Given the description of an element on the screen output the (x, y) to click on. 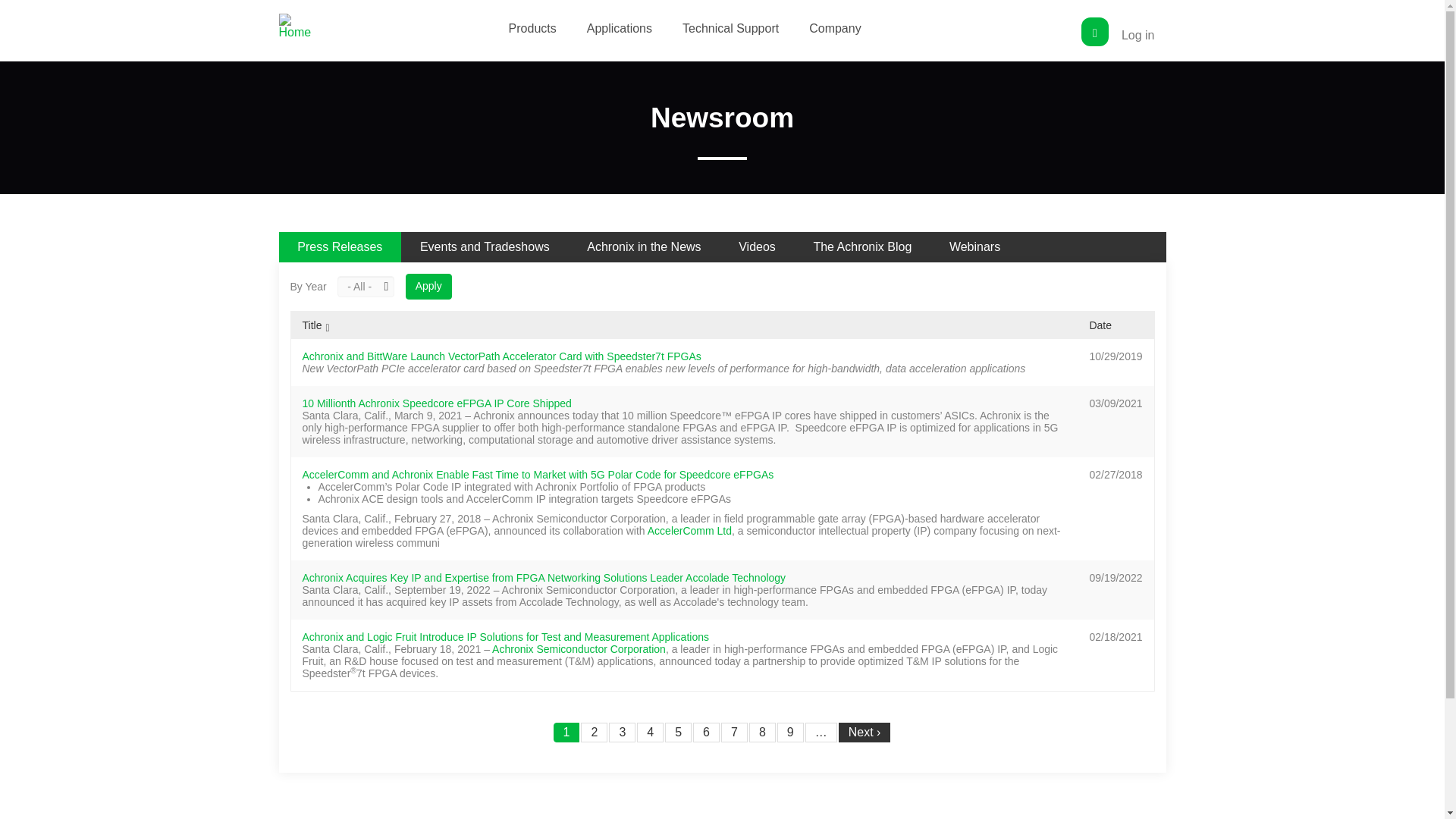
Products (539, 28)
Technical Support (738, 28)
Home (301, 26)
Applications (627, 28)
